Given the description of an element on the screen output the (x, y) to click on. 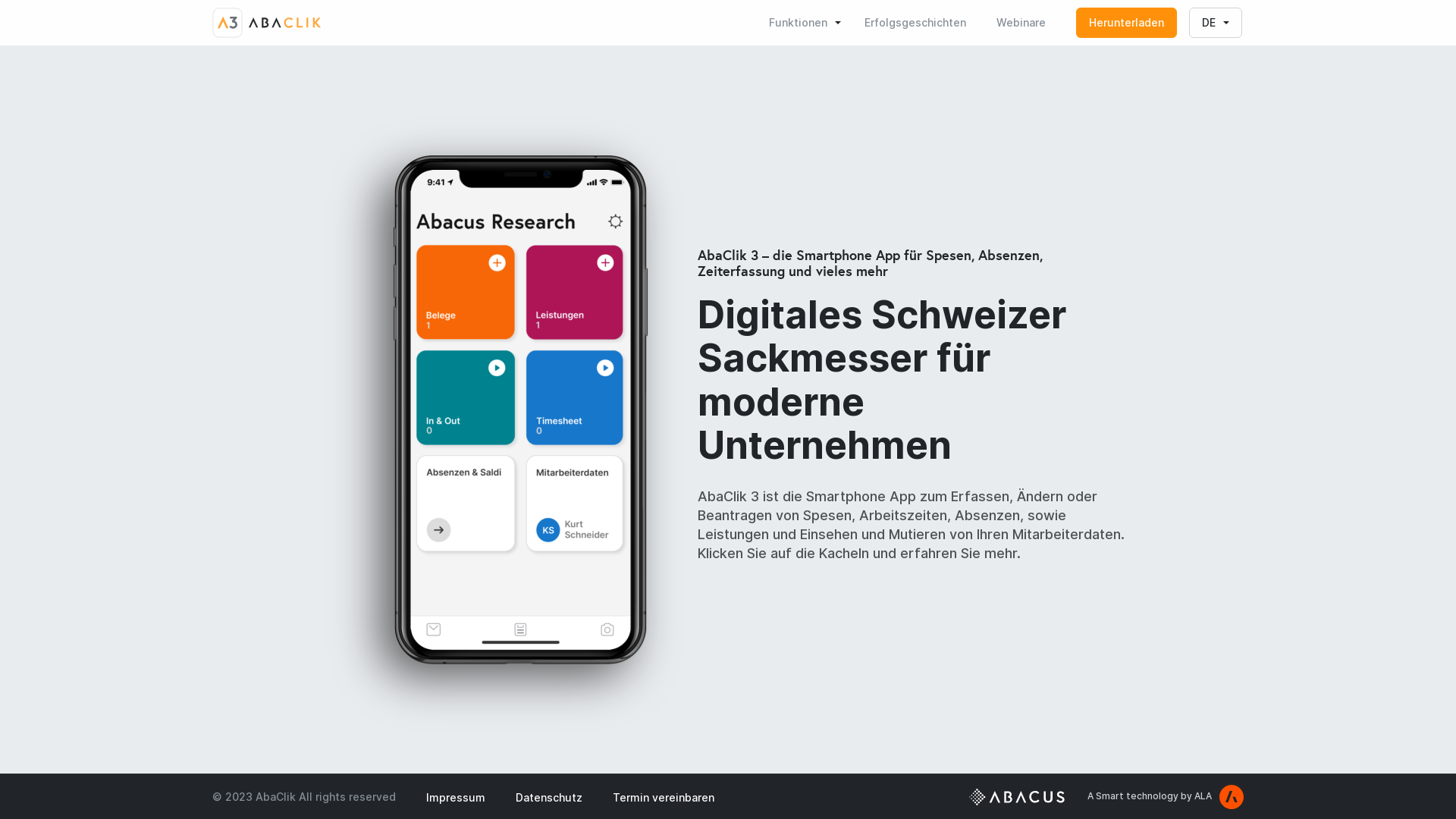
Termin vereinbaren Element type: text (663, 796)
AbaClik Element type: text (266, 22)
Funktionen Element type: text (804, 22)
Impressum Element type: text (455, 796)
Herunterladen Element type: text (1126, 22)
Datenschutz Element type: text (548, 796)
DE Element type: text (1215, 22)
A Smart technology by ALA Element type: text (1165, 796)
Erfolgsgeschichten Element type: text (915, 21)
Webinare Element type: text (1020, 21)
